Given the description of an element on the screen output the (x, y) to click on. 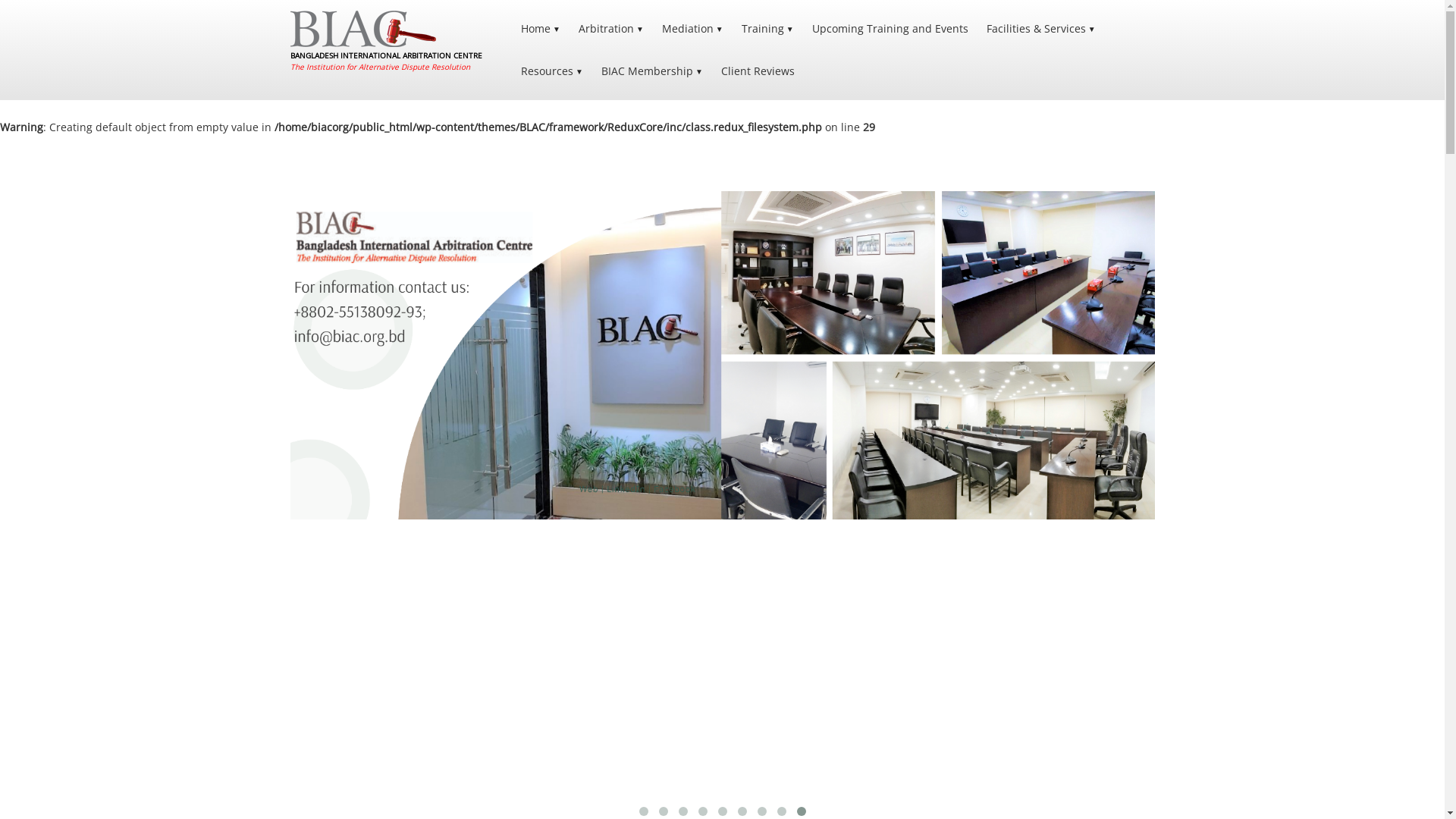
Upcoming Training and Events Element type: text (890, 28)
Arbitration Element type: text (610, 28)
Mediation Element type: text (692, 28)
Client Reviews Element type: text (757, 71)
Facilities & Services Element type: text (1040, 28)
Home Element type: text (540, 28)
BIAC Membership Element type: text (652, 71)
Resources Element type: text (551, 71)
Training Element type: text (767, 28)
